Given the description of an element on the screen output the (x, y) to click on. 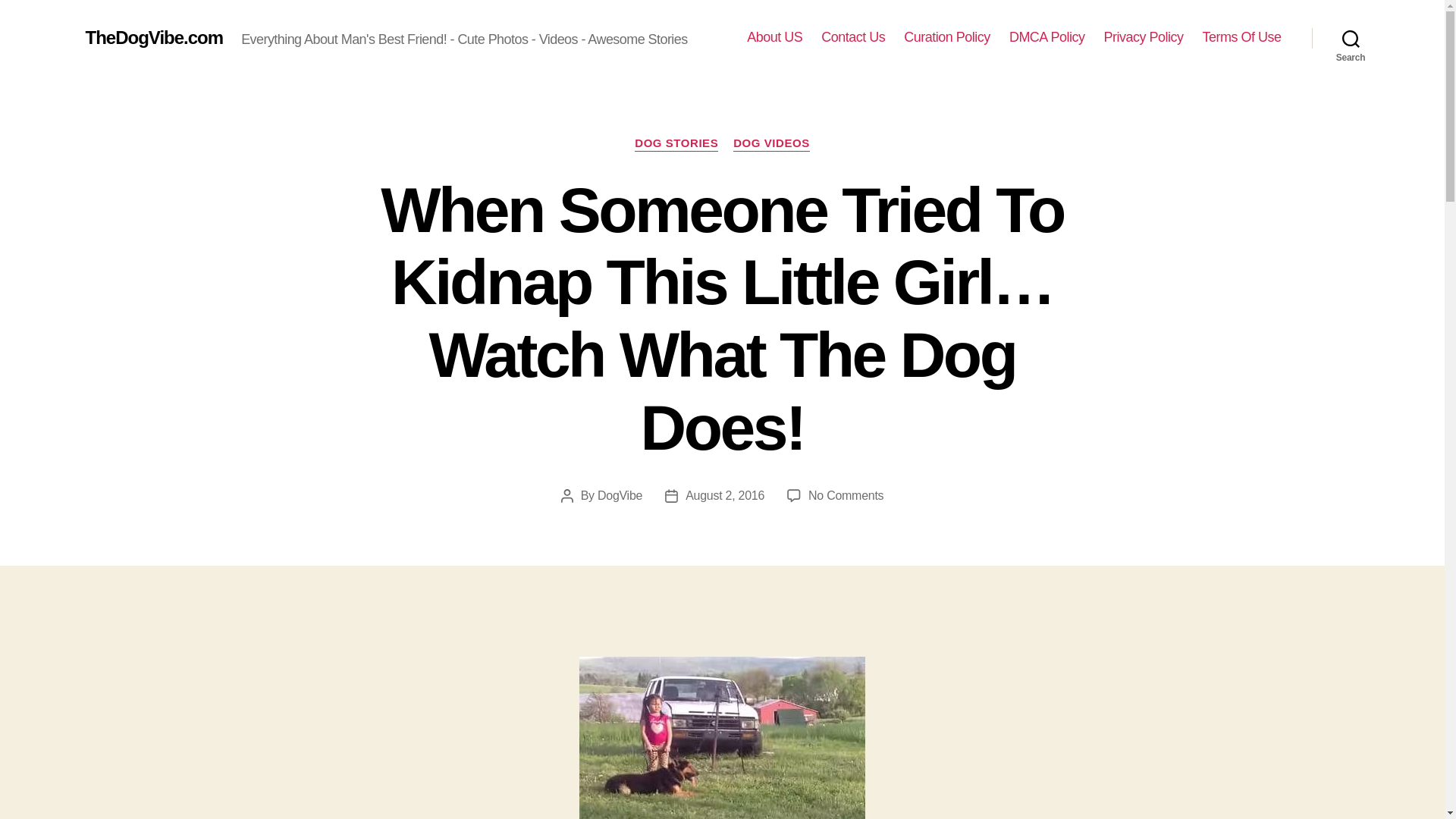
DOG STORIES (675, 143)
TheDogVibe.com (153, 37)
Search (1350, 37)
Contact Us (853, 37)
Privacy Policy (1142, 37)
DOG VIDEOS (771, 143)
Terms Of Use (1241, 37)
DogVibe (619, 495)
About US (774, 37)
Curation Policy (947, 37)
